Given the description of an element on the screen output the (x, y) to click on. 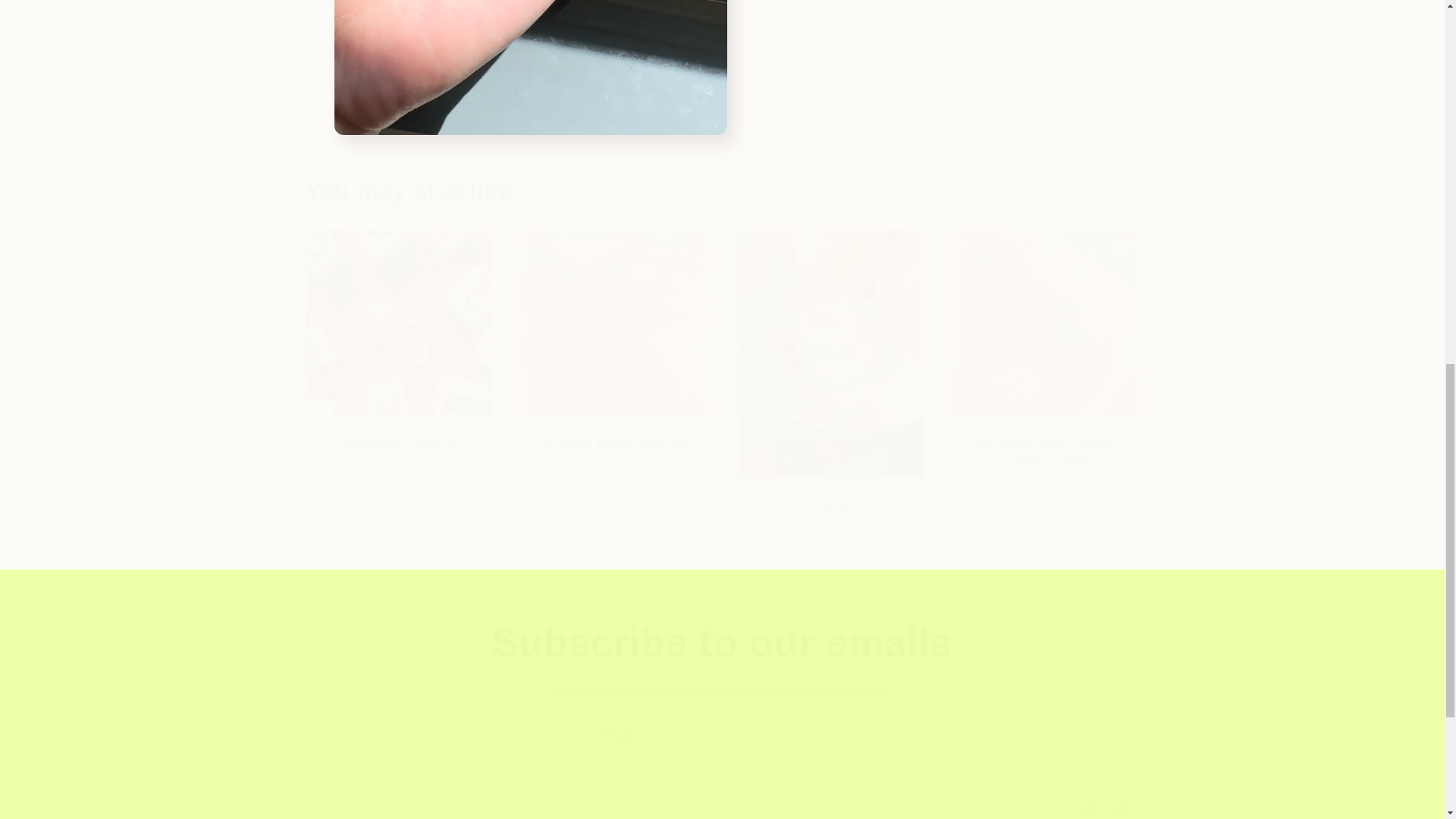
Email (722, 736)
Open media 1 in modal (529, 12)
Subscribe to our emails (721, 806)
